Given the description of an element on the screen output the (x, y) to click on. 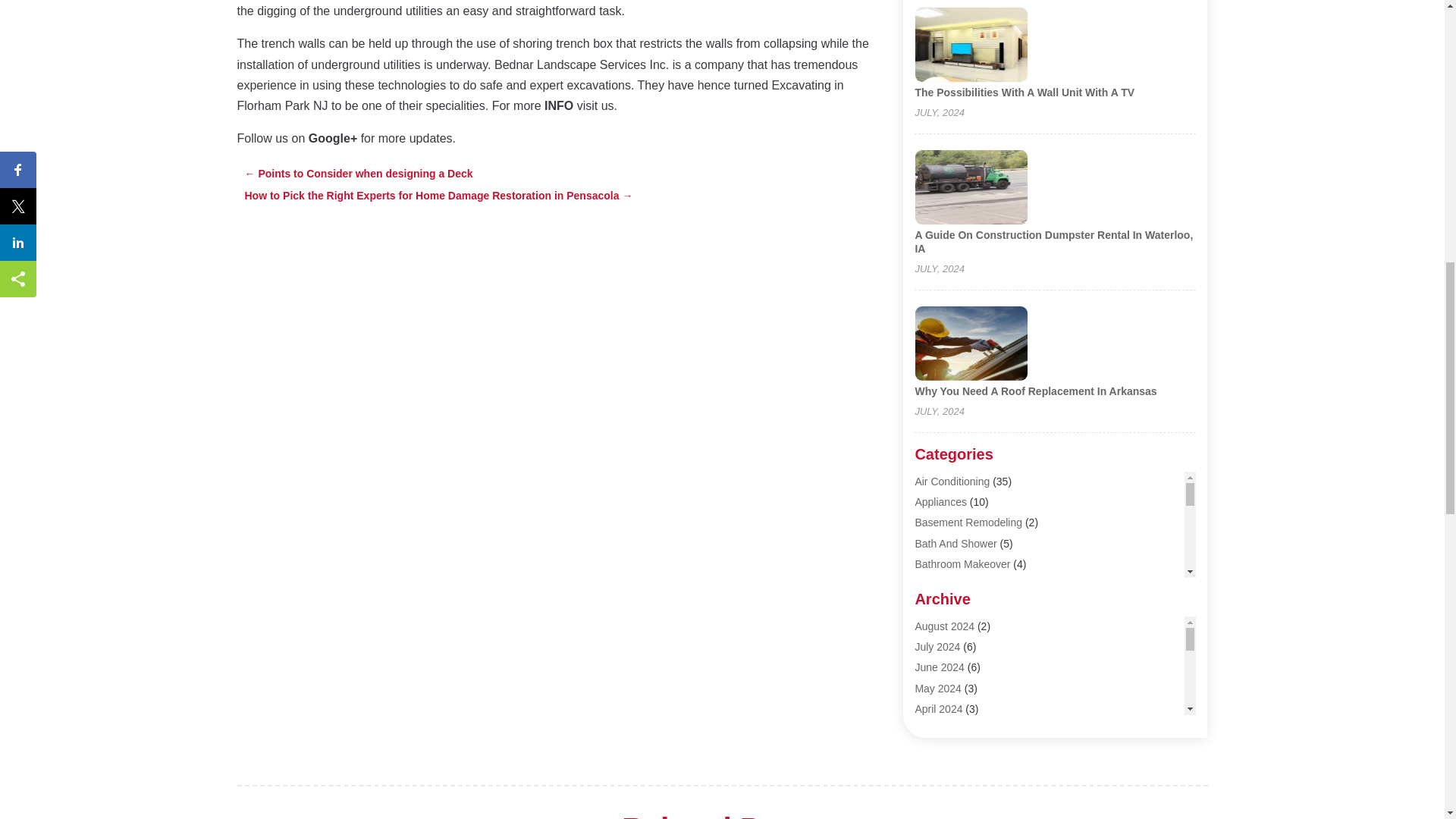
Custom Home Builder (965, 811)
Bath And Shower (954, 543)
Commercial Refrigeration (974, 748)
A Guide On Construction Dumpster Rental In Waterloo, IA (1053, 241)
Construction And Maintenance (986, 770)
Building Material (953, 604)
Air Conditioning (952, 481)
The Possibilities With A Wall Unit With A TV (1024, 92)
Cleaning Tips And Tools (970, 728)
Basement Remodeling (968, 522)
